Given the description of an element on the screen output the (x, y) to click on. 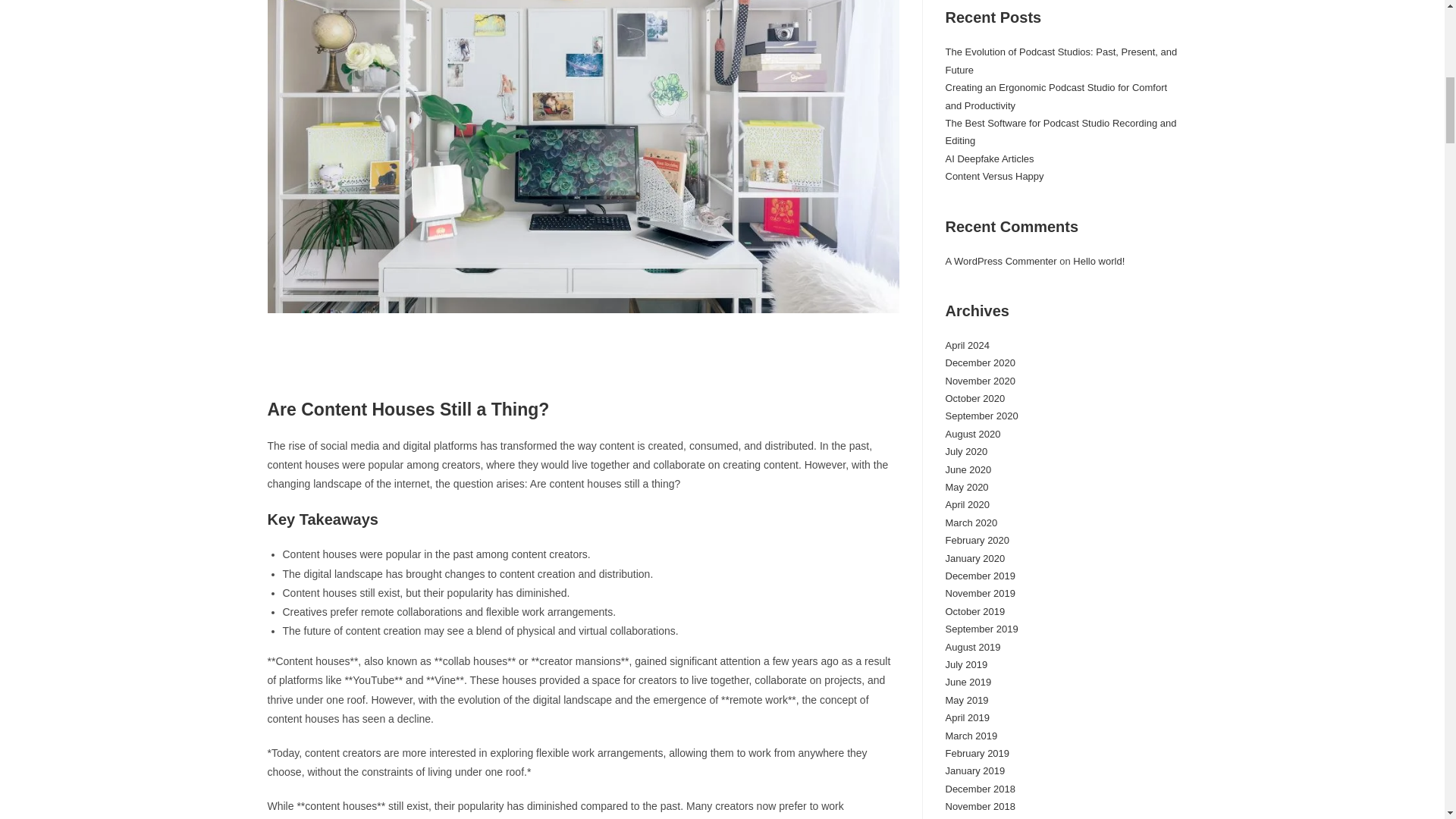
April 2020 (967, 504)
August 2020 (972, 433)
December 2019 (979, 575)
March 2020 (970, 522)
A WordPress Commenter (1000, 260)
December 2020 (979, 362)
July 2020 (965, 451)
May 2020 (966, 487)
January 2020 (974, 558)
September 2019 (980, 628)
